Given the description of an element on the screen output the (x, y) to click on. 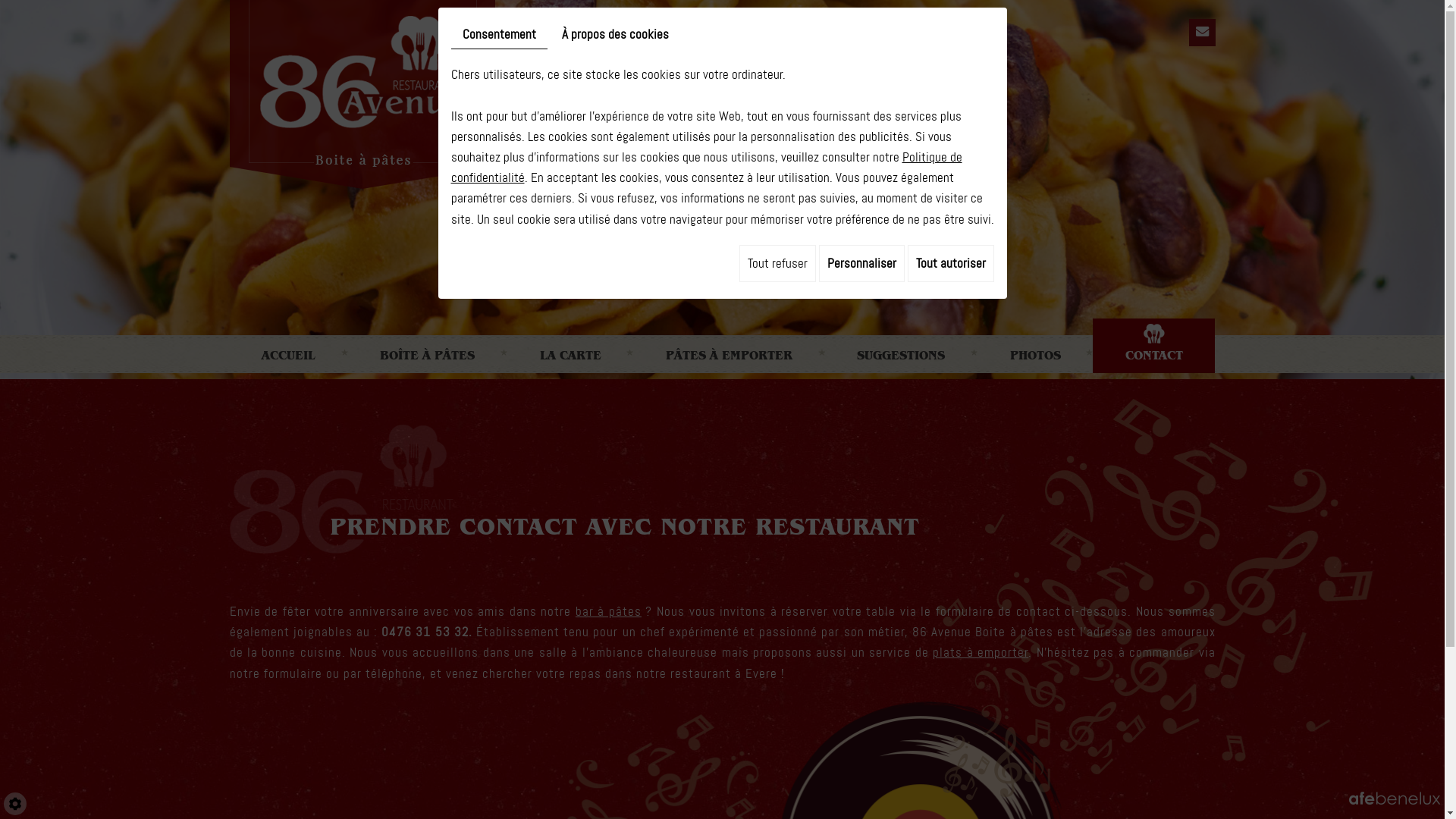
Personnaliser Element type: text (861, 263)
Tout autoriser Element type: text (949, 263)
02 216 30 52 Element type: text (721, 286)
ACCUEIL Element type: text (288, 345)
Tout refuser Element type: text (776, 263)
Consentement Element type: text (498, 34)
SUGGESTIONS Element type: text (901, 345)
LA CARTE Element type: text (570, 345)
CONTACT Element type: text (1153, 345)
PHOTOS Element type: text (1034, 345)
